Given the description of an element on the screen output the (x, y) to click on. 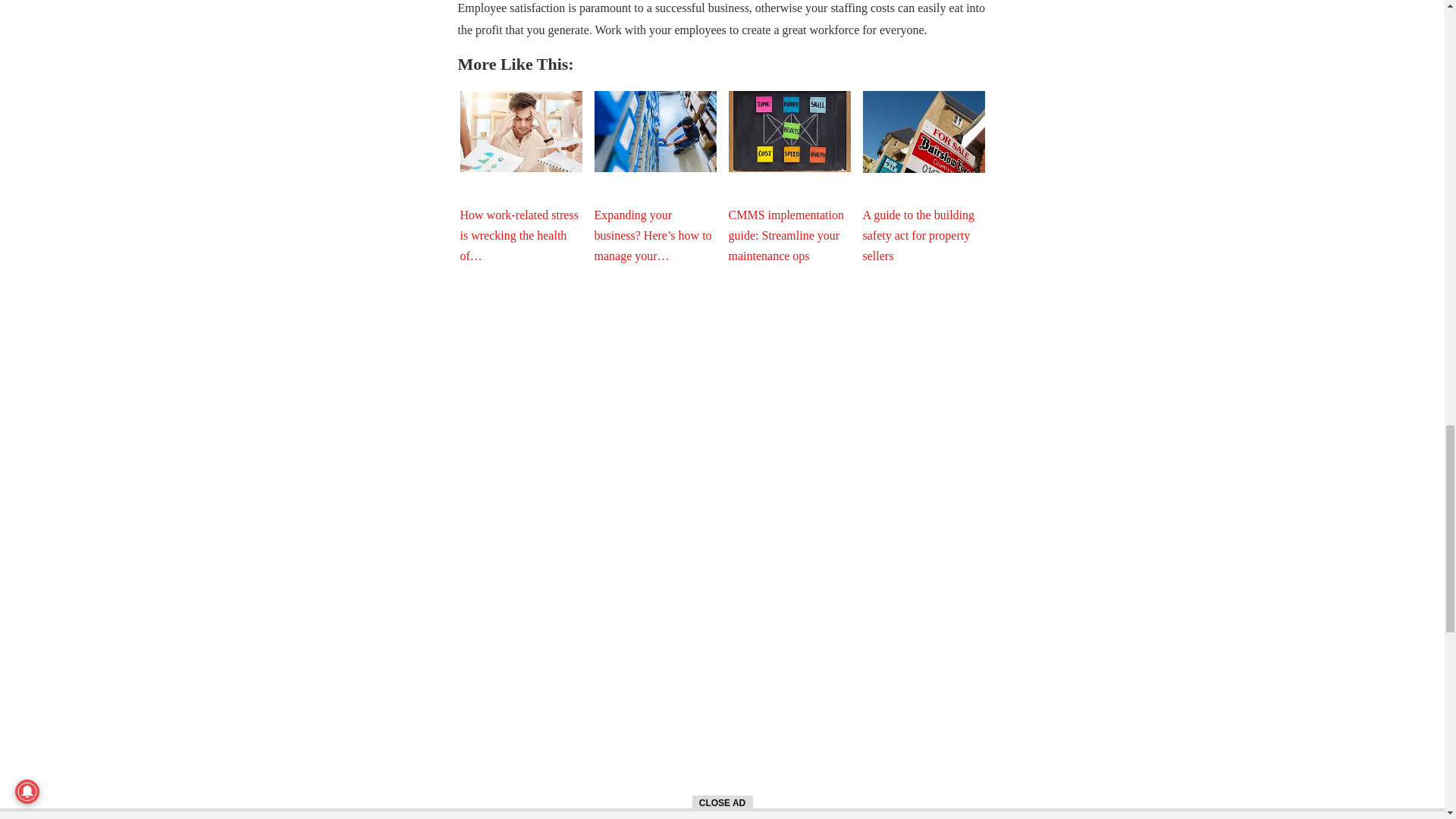
A guide to the building safety act for property sellers (924, 131)
CMMS implementation guide: Streamline your maintenance ops (789, 130)
